Given the description of an element on the screen output the (x, y) to click on. 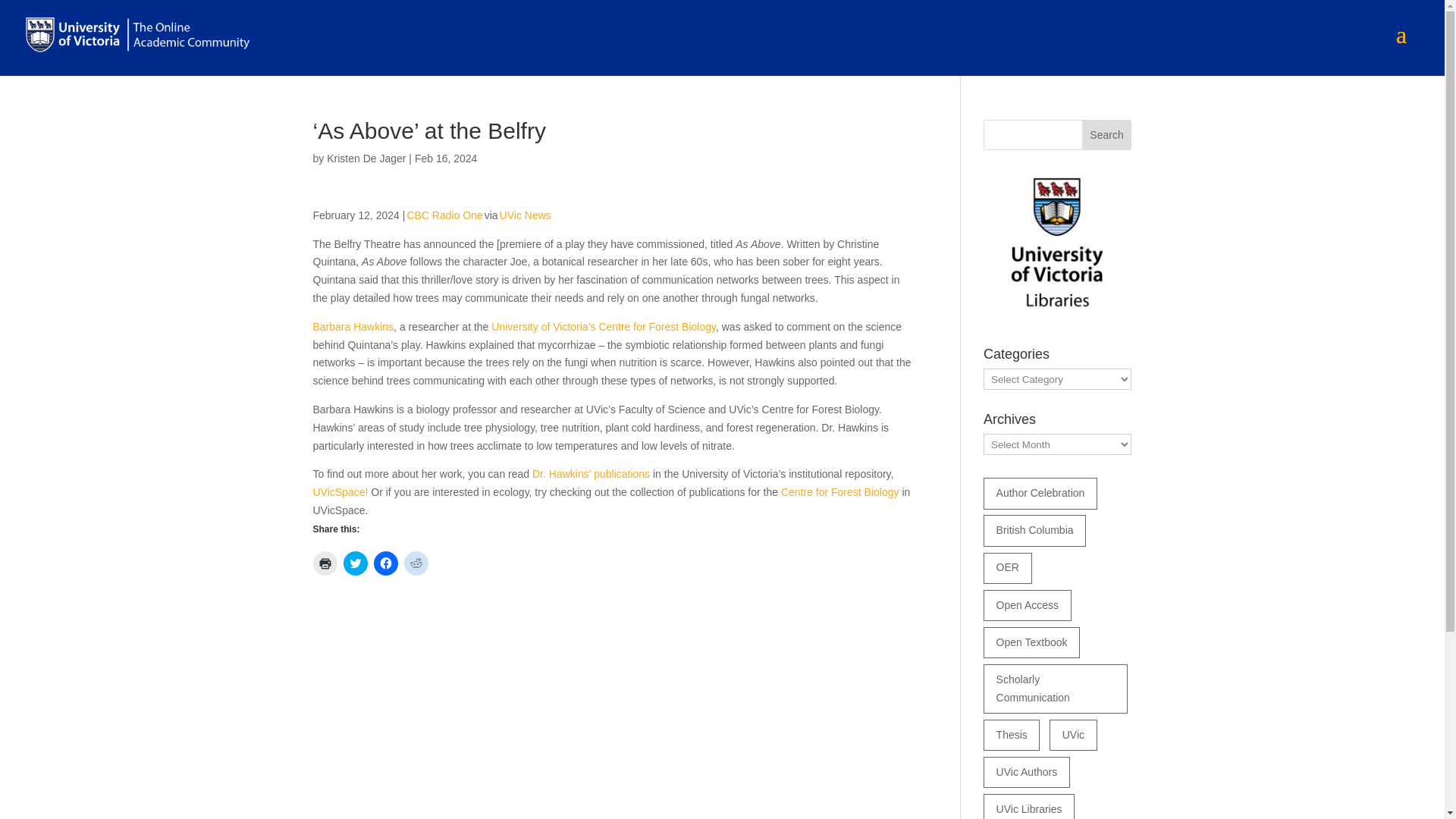
Author Celebration (1040, 492)
Search (1106, 134)
Click to share on Twitter (354, 563)
CBC Radio One (443, 215)
Posts by Kristen De Jager (366, 158)
UVicSpace! (340, 491)
Search (1106, 134)
Kristen De Jager (366, 158)
UVic News (525, 215)
Click to print (324, 563)
